Given the description of an element on the screen output the (x, y) to click on. 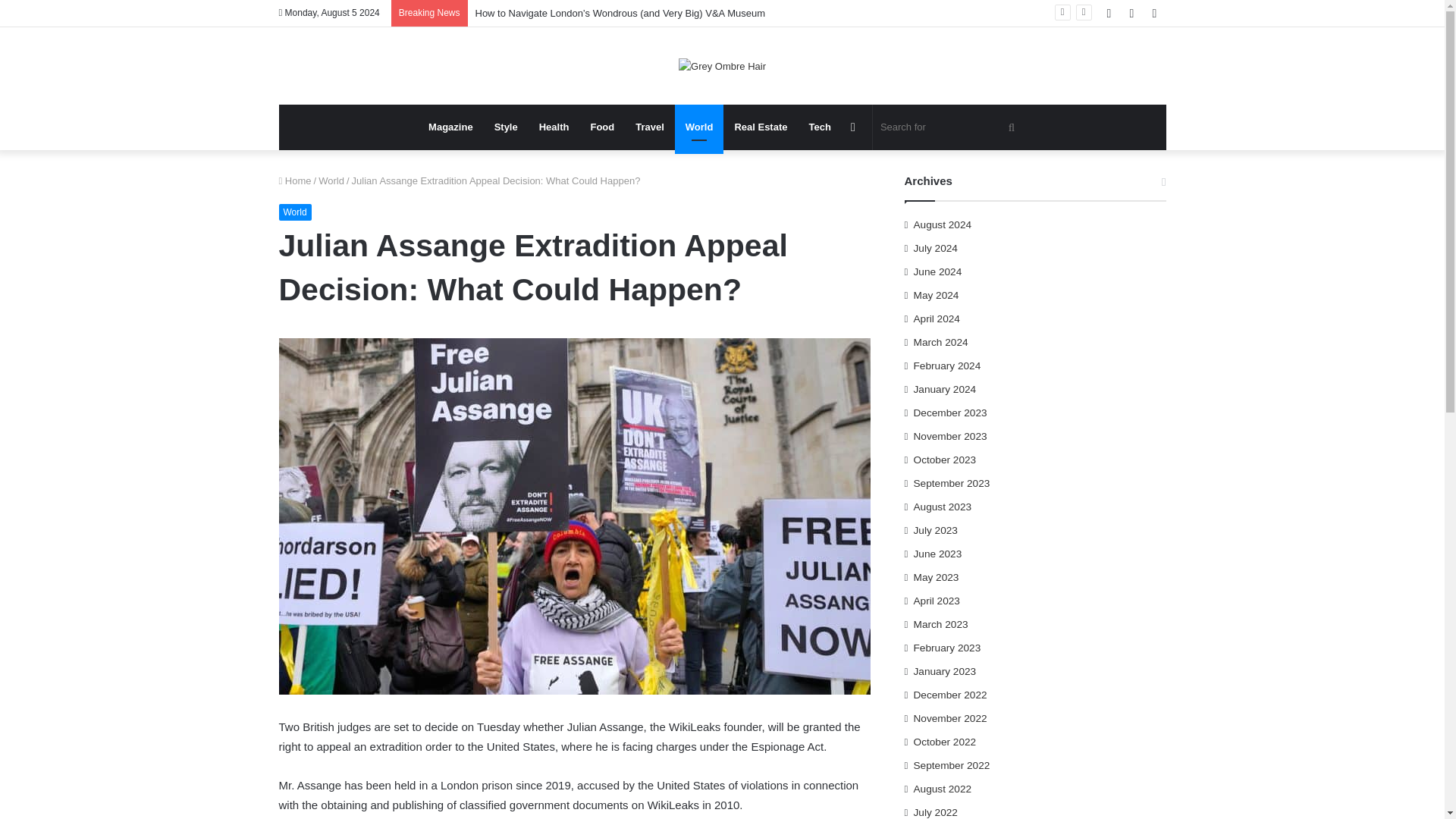
Health (553, 126)
January 2024 (945, 389)
February 2024 (947, 365)
May 2024 (936, 295)
Food (601, 126)
April 2024 (936, 318)
Grey Ombre Hair (721, 65)
World (330, 180)
Home (295, 180)
Tech (819, 126)
Style (505, 126)
July 2024 (936, 248)
Real Estate (760, 126)
World (699, 126)
March 2024 (941, 342)
